Given the description of an element on the screen output the (x, y) to click on. 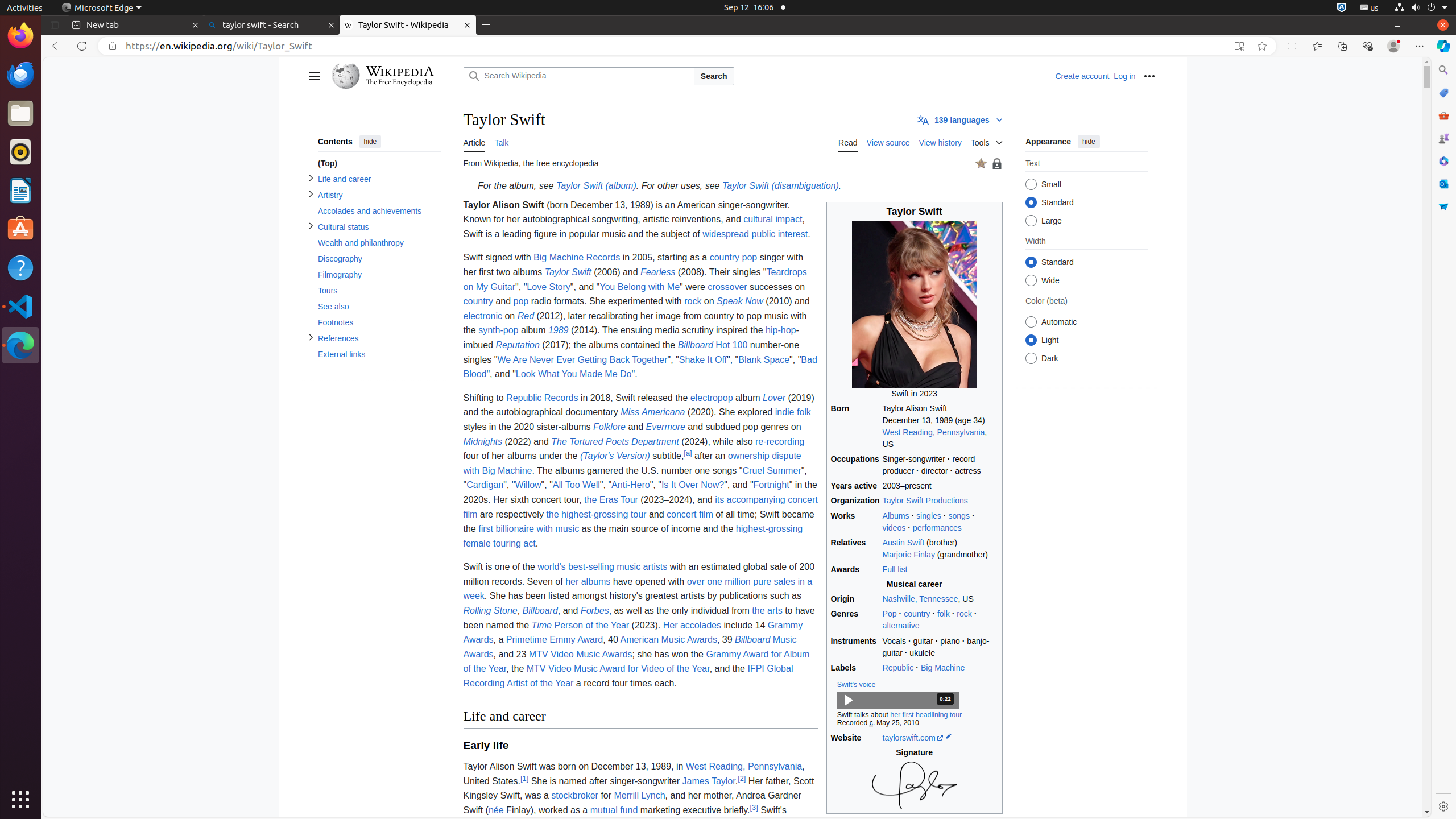
New Tab Element type: push-button (486, 25)
Microsoft Edge Element type: push-button (20, 344)
Taylor Alison Swift December 13, 1989 (age 34) West Reading, Pennsylvania, US Element type: table-cell (939, 426)
Taylor Swift (album) Element type: link (595, 185)
Pop Element type: link (889, 613)
